Given the description of an element on the screen output the (x, y) to click on. 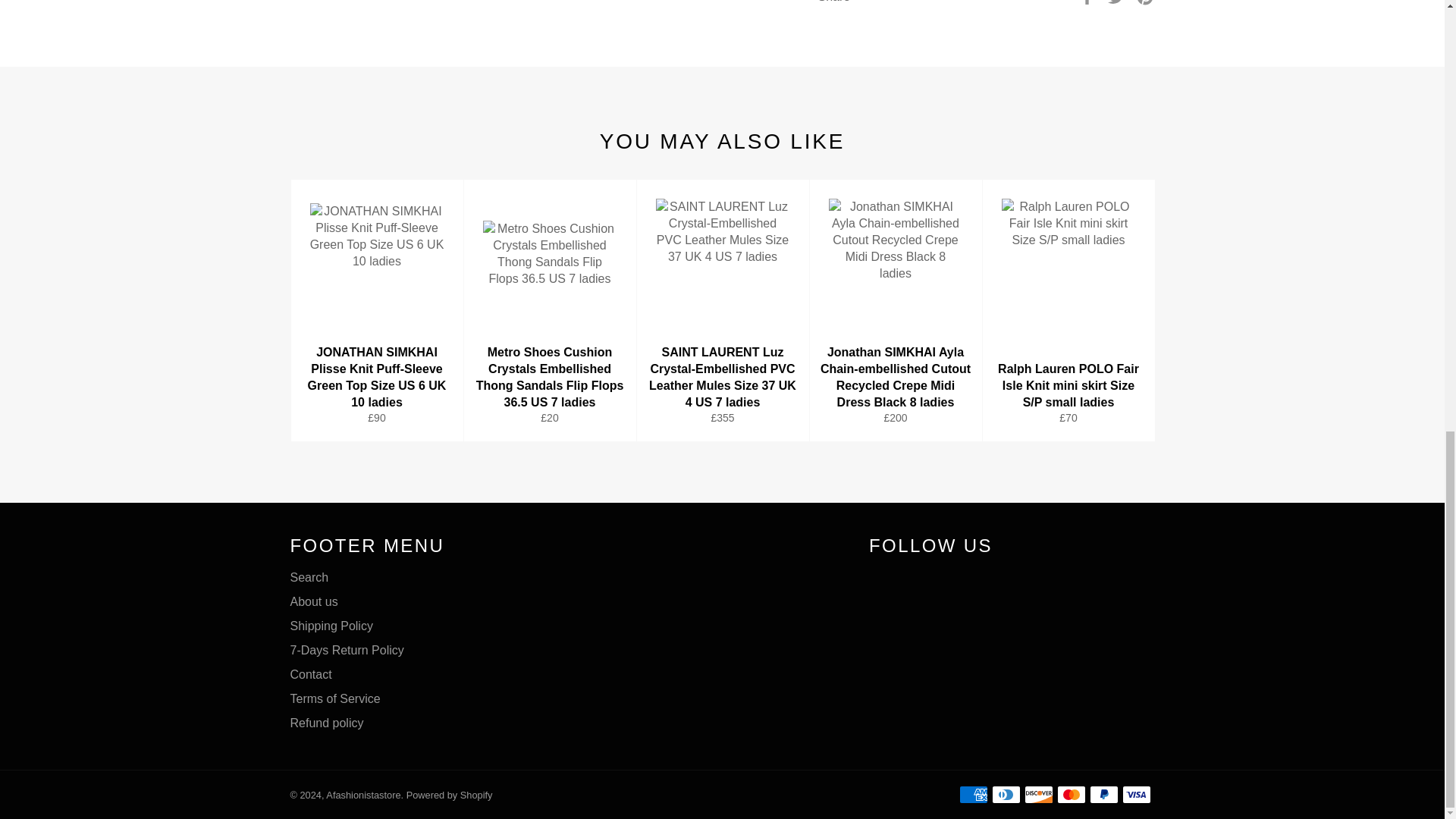
Share on Facebook (1088, 1)
Tweet on Twitter (1117, 1)
Pin on Pinterest (1144, 1)
